Given the description of an element on the screen output the (x, y) to click on. 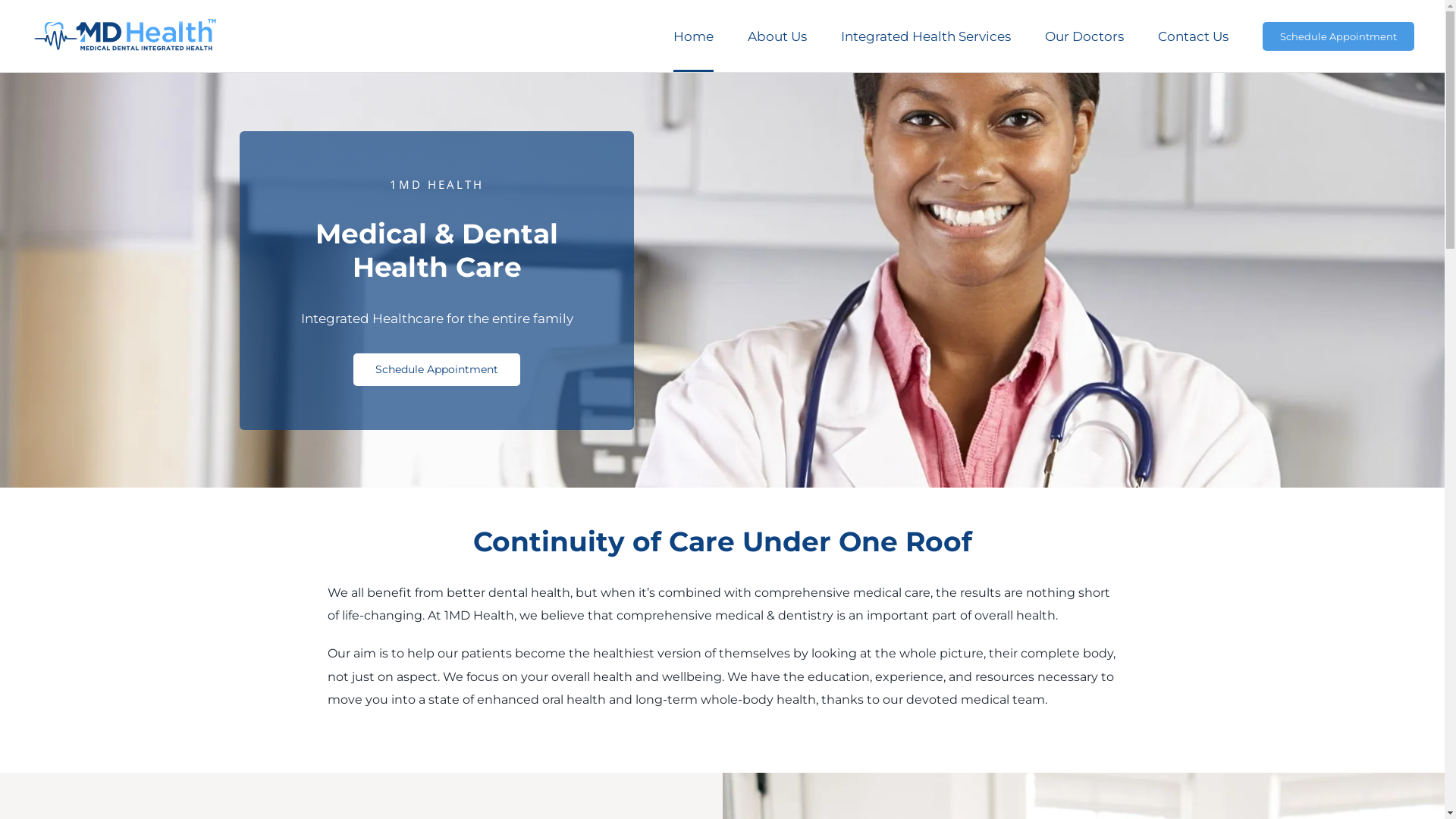
Home Element type: text (693, 36)
Integrated Health Services Element type: text (925, 36)
Schedule Appointment Element type: text (436, 369)
Schedule Appointment Element type: text (1338, 36)
Contact Us Element type: text (1192, 36)
Our Doctors Element type: text (1083, 36)
About Us Element type: text (776, 36)
